Given the description of an element on the screen output the (x, y) to click on. 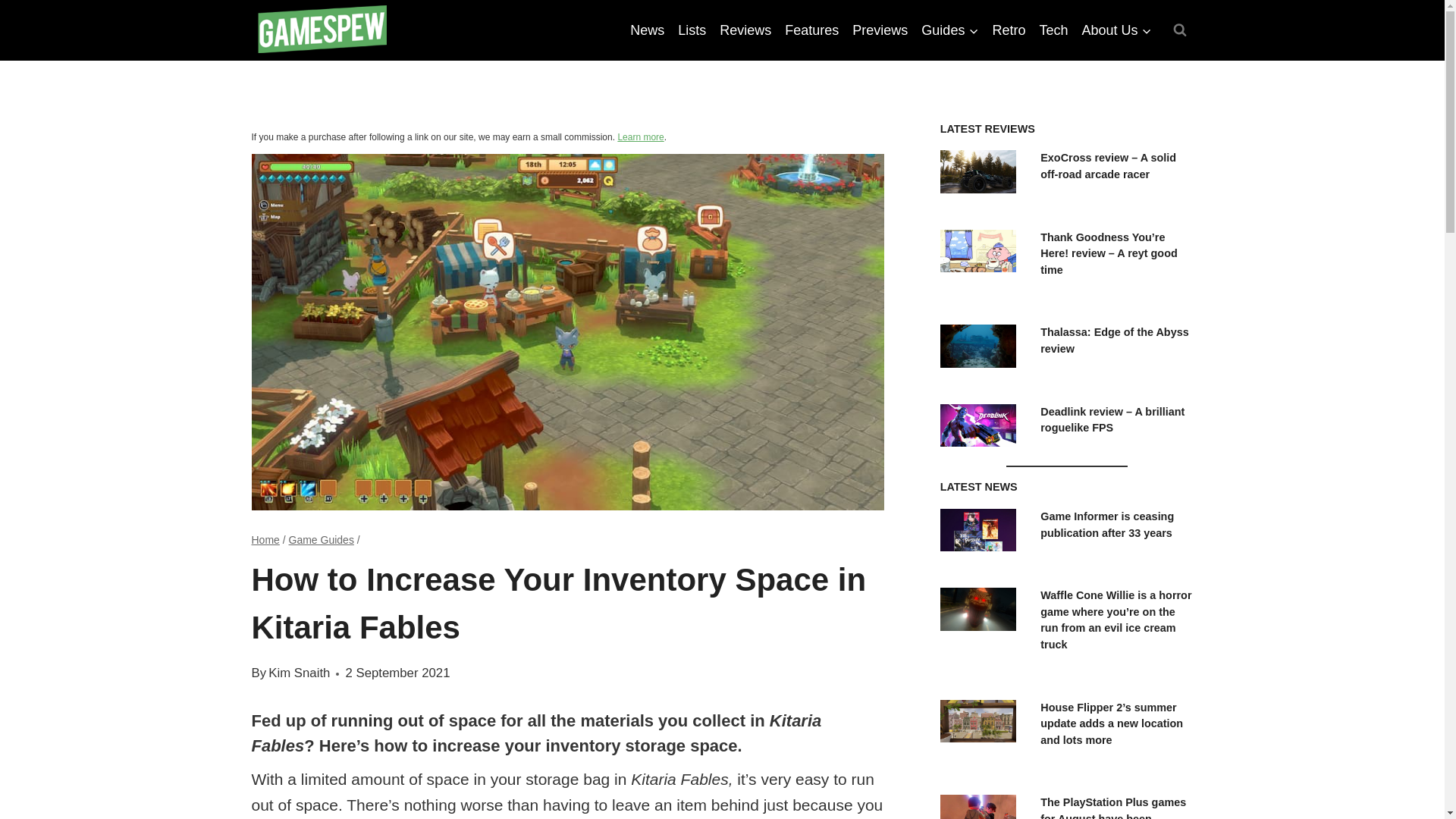
Lists (692, 30)
Game Guides (320, 539)
About Us (1115, 30)
Guides (949, 30)
Tech (1053, 30)
Retro (1008, 30)
Kim Snaith (298, 672)
Reviews (745, 30)
Learn more (640, 136)
Home (265, 539)
Previews (879, 30)
Features (811, 30)
News (647, 30)
